Given the description of an element on the screen output the (x, y) to click on. 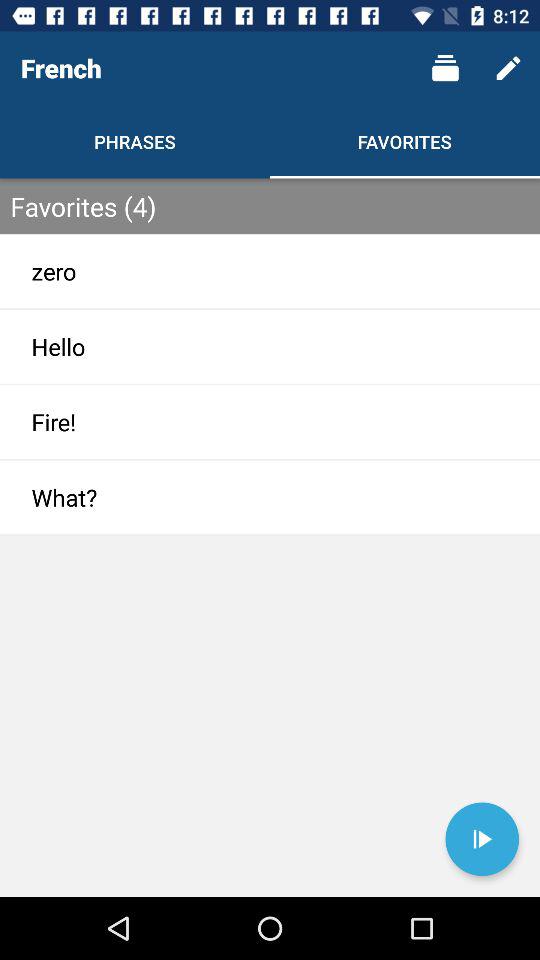
launch item above the favorites (4) icon (508, 67)
